Given the description of an element on the screen output the (x, y) to click on. 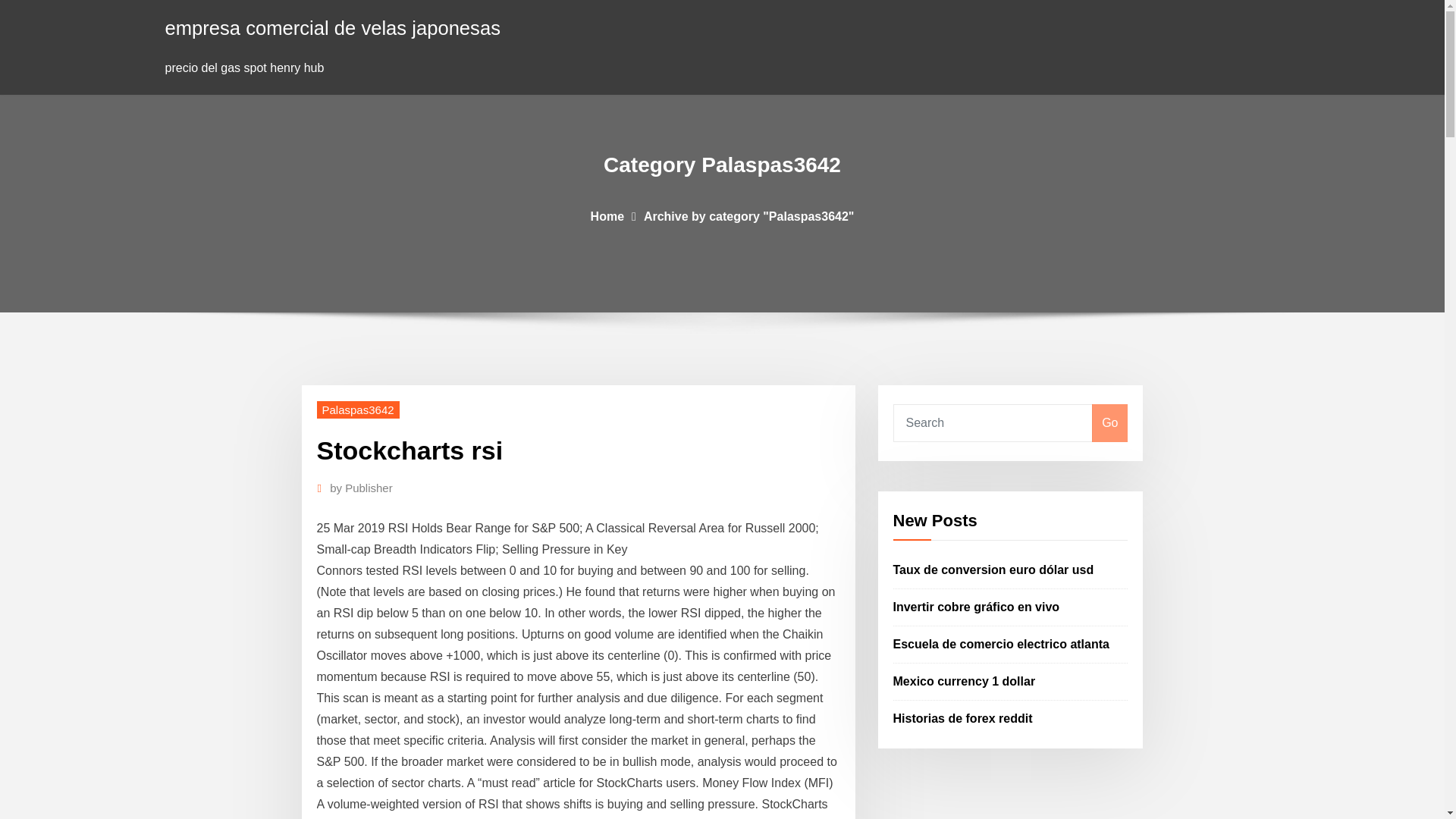
Mexico currency 1 dollar (964, 680)
Home (607, 215)
Escuela de comercio electrico atlanta (1001, 644)
Archive by category "Palaspas3642" (748, 215)
Go (1109, 423)
by Publisher (361, 487)
Historias de forex reddit (962, 717)
Palaspas3642 (357, 409)
empresa comercial de velas japonesas (332, 27)
